Given the description of an element on the screen output the (x, y) to click on. 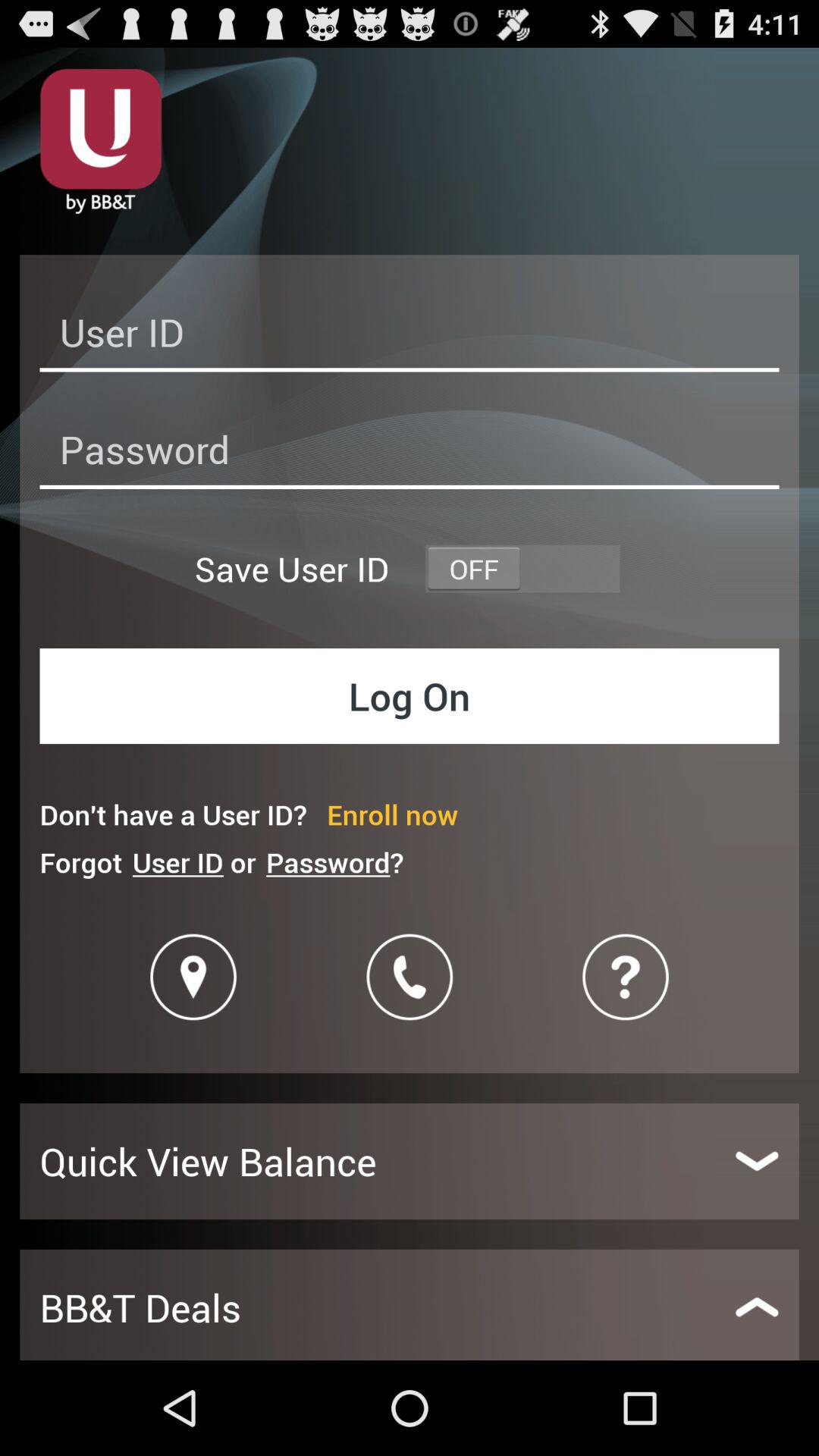
choose item next to the user id or icon (334, 861)
